Given the description of an element on the screen output the (x, y) to click on. 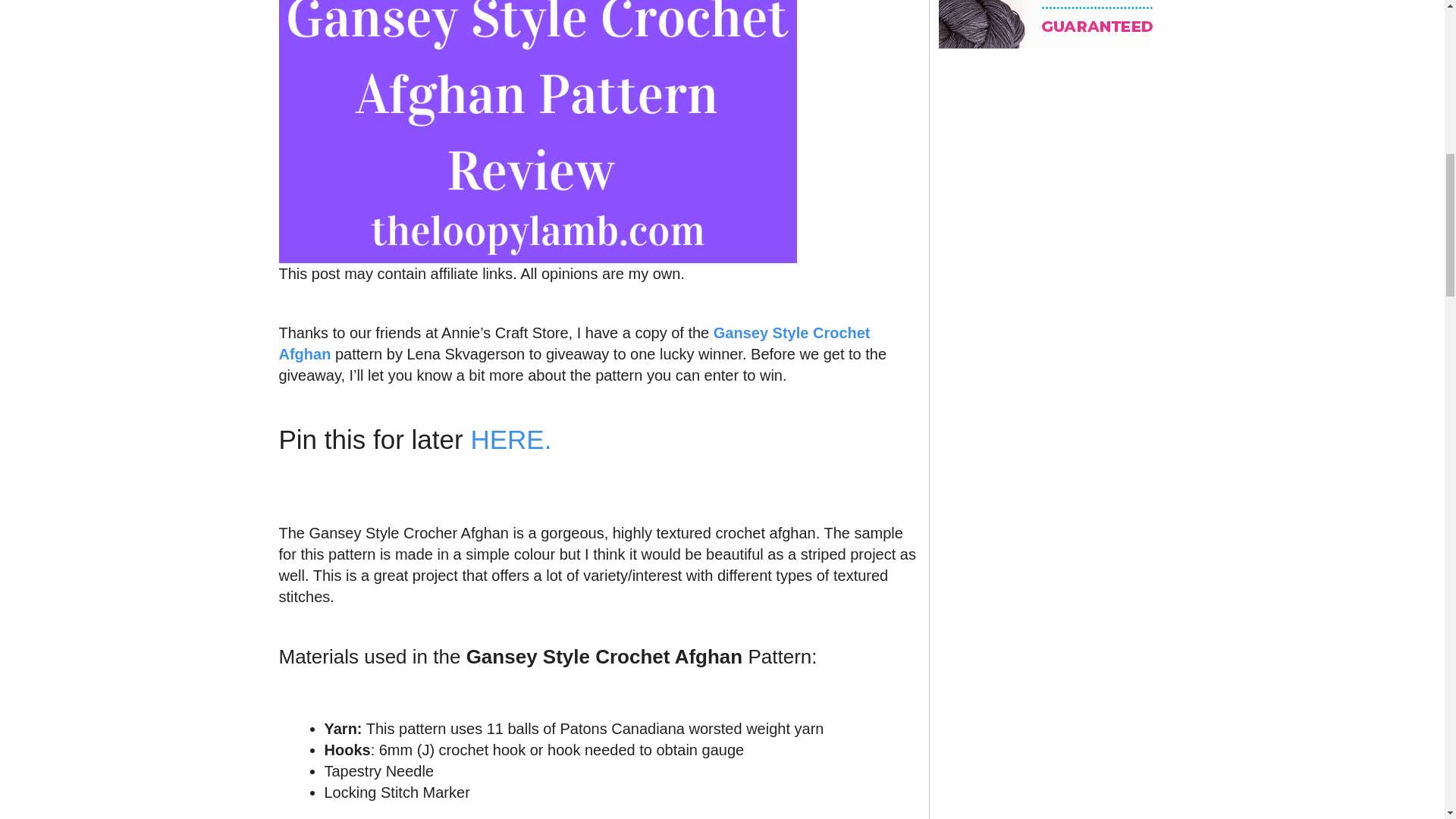
HERE. (510, 439)
Gansey Style Crochet Afghan (574, 343)
